Given the description of an element on the screen output the (x, y) to click on. 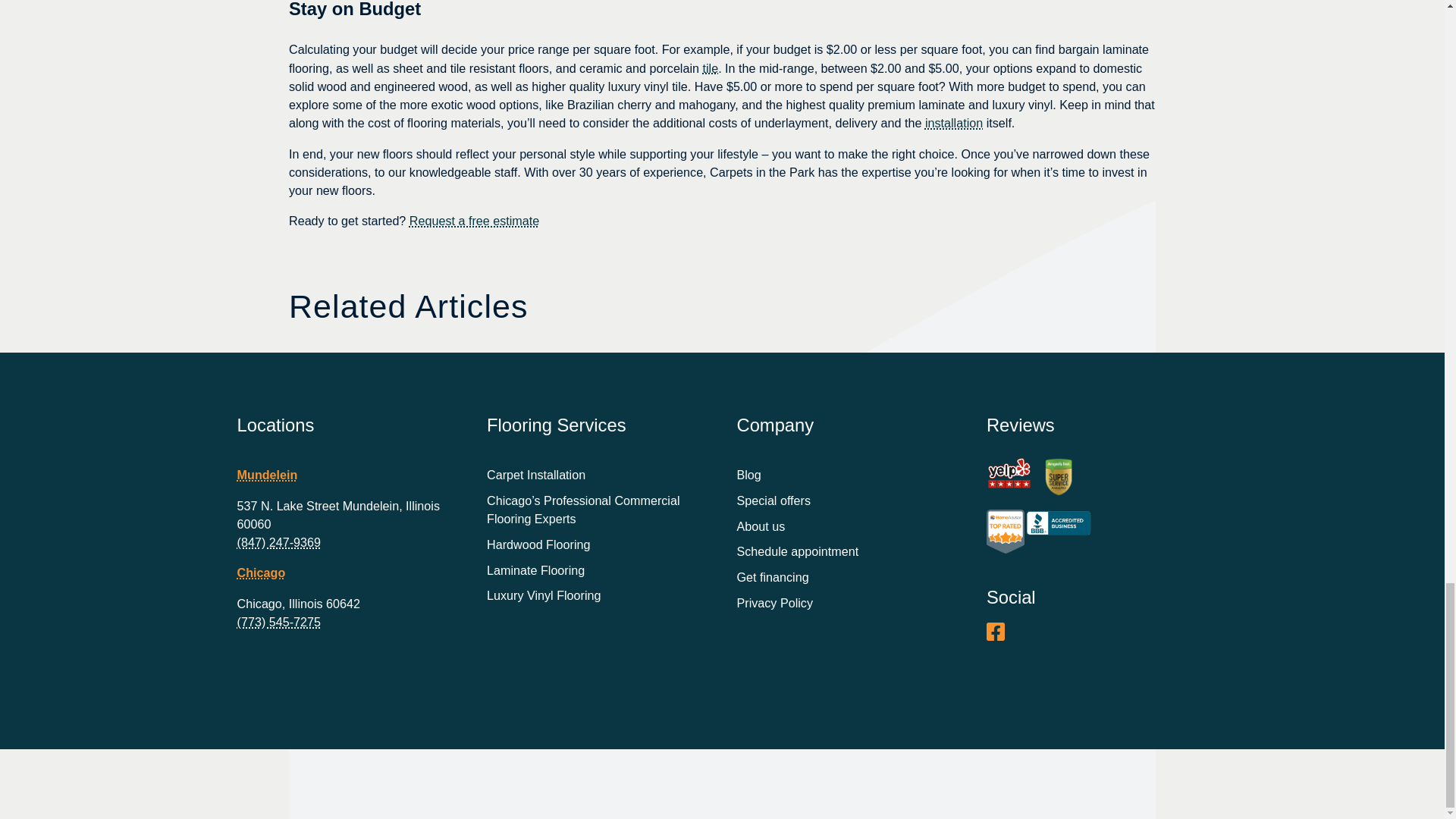
installation (953, 122)
tile (709, 68)
Request a free estimate (473, 220)
Mundelein (267, 474)
Chicago (261, 572)
